Given the description of an element on the screen output the (x, y) to click on. 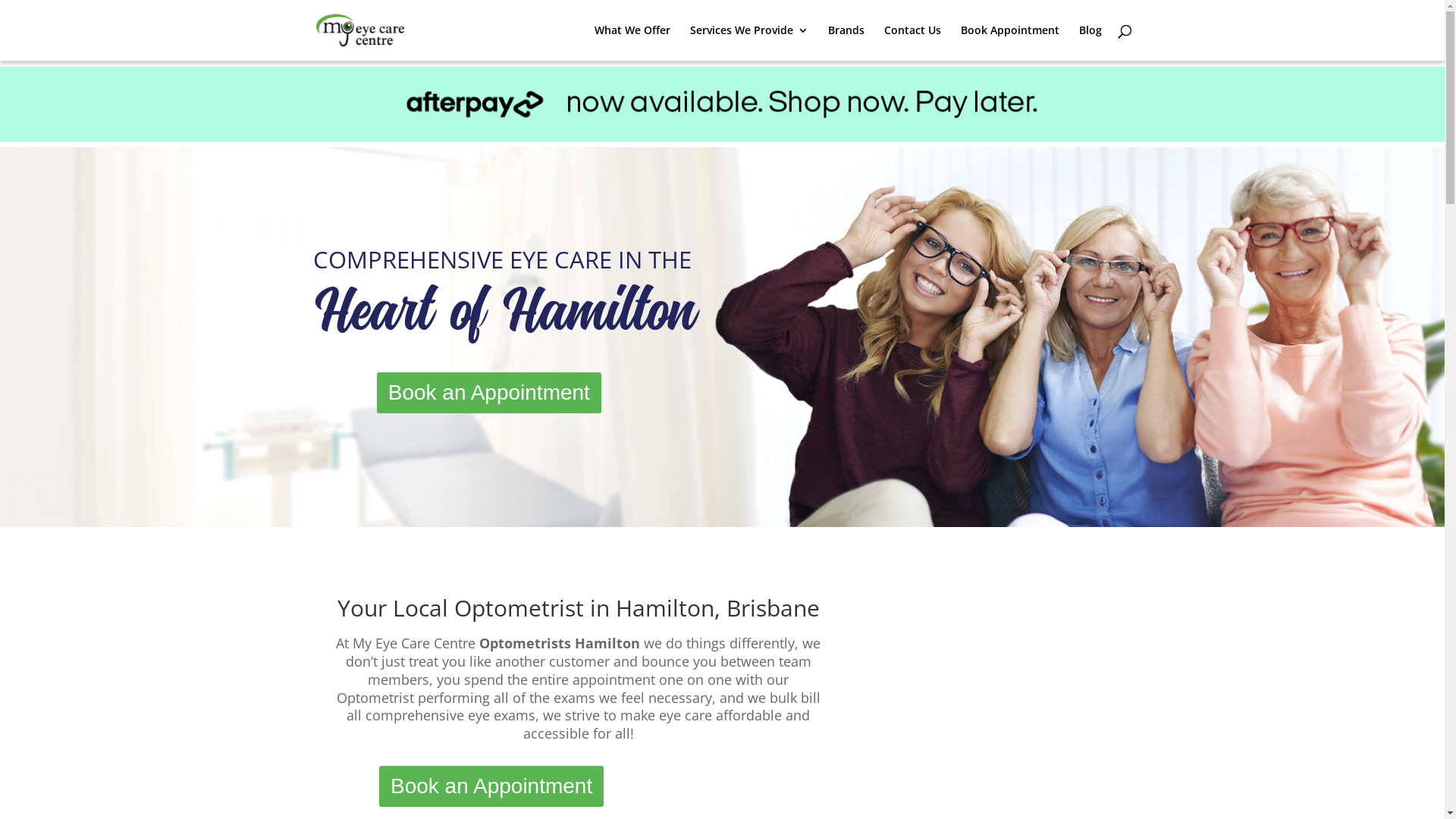
Brands Element type: text (846, 42)
What We Offer Element type: text (632, 42)
Blog Element type: text (1089, 42)
Book an Appointment Element type: text (491, 788)
Contact Us Element type: text (912, 42)
Book Appointment Element type: text (1009, 42)
Services We Provide Element type: text (749, 42)
Book an Appointment Element type: text (488, 395)
